Given the description of an element on the screen output the (x, y) to click on. 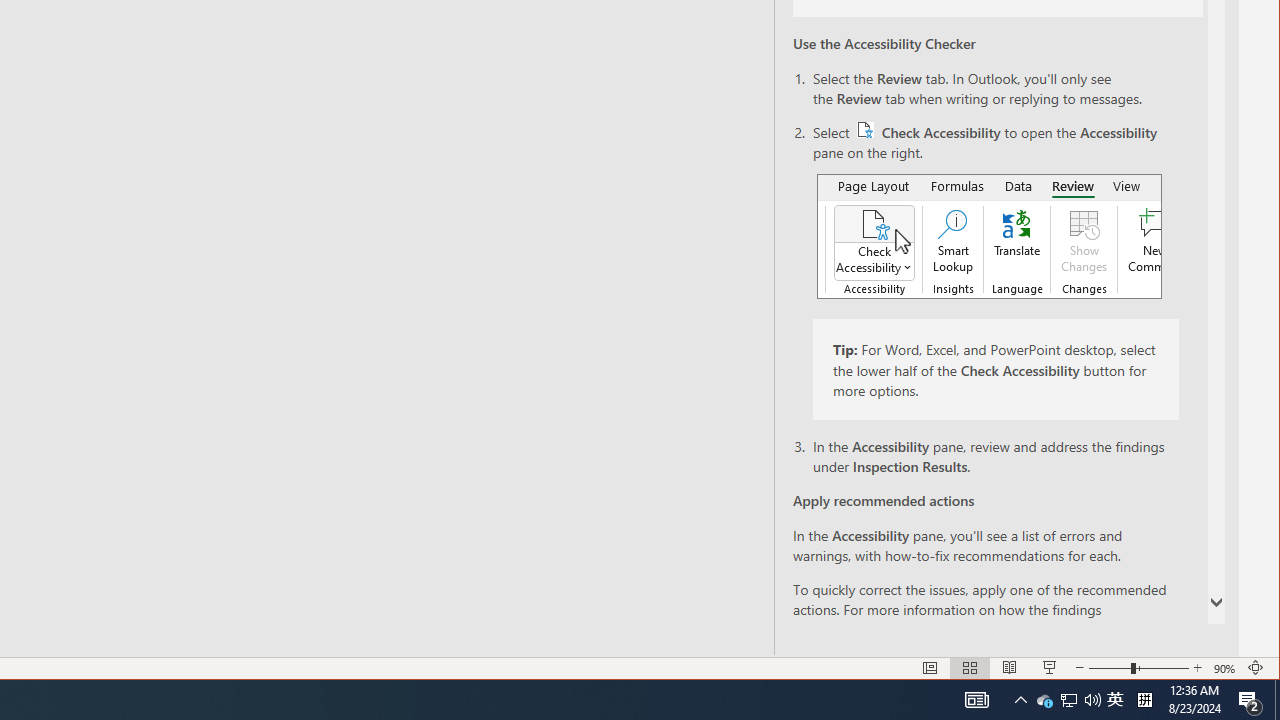
Zoom 90% (1225, 668)
Accessibility checker button on ribbon (989, 236)
